Given the description of an element on the screen output the (x, y) to click on. 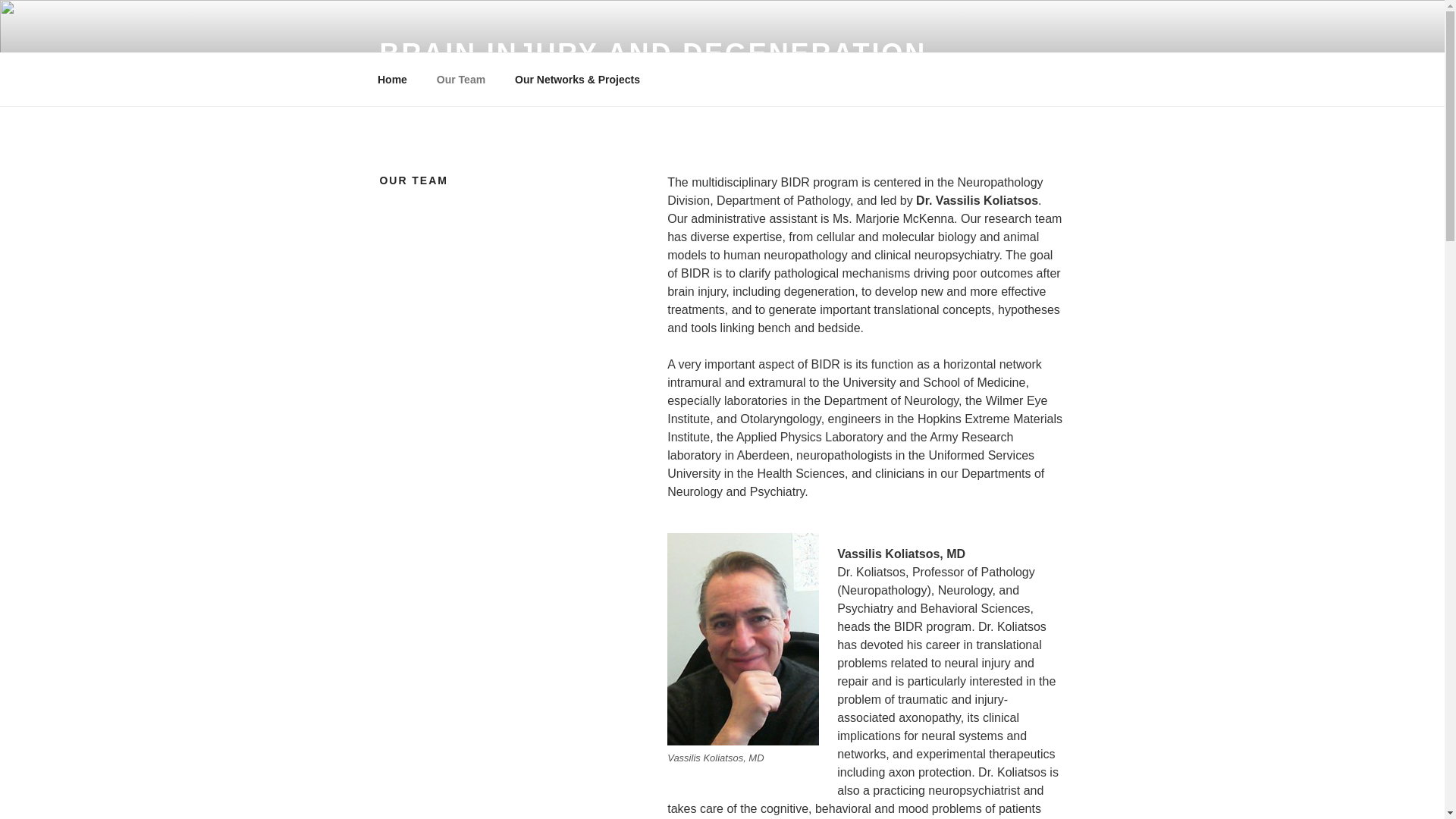
Our Team (460, 78)
BRAIN INJURY AND DEGENERATION (652, 52)
Home (392, 78)
